Given the description of an element on the screen output the (x, y) to click on. 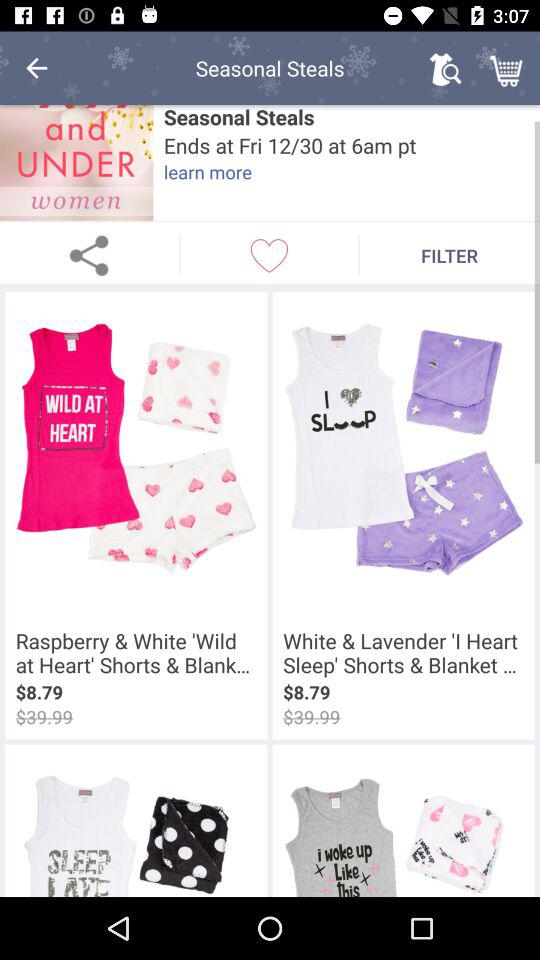
choose the filter (449, 255)
